Given the description of an element on the screen output the (x, y) to click on. 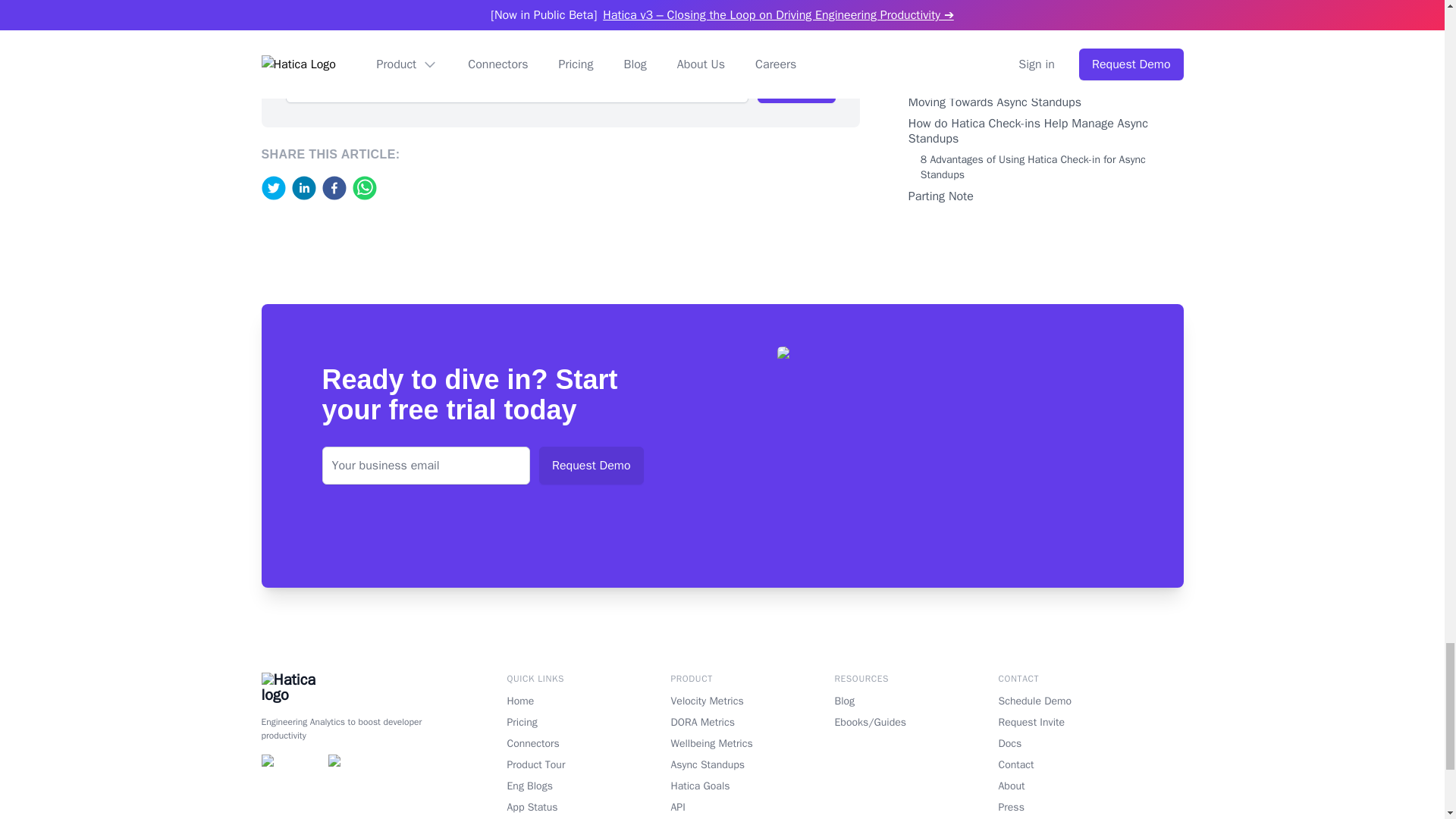
Wellbeing Metrics (721, 743)
Eng Blogs (558, 785)
Pricing (558, 722)
App Status (558, 807)
Velocity Metrics (721, 701)
Request Demo (590, 465)
Subscribe (795, 84)
Connectors (558, 743)
Product Tour (558, 765)
Home (558, 701)
DORA Metrics (721, 722)
